Given the description of an element on the screen output the (x, y) to click on. 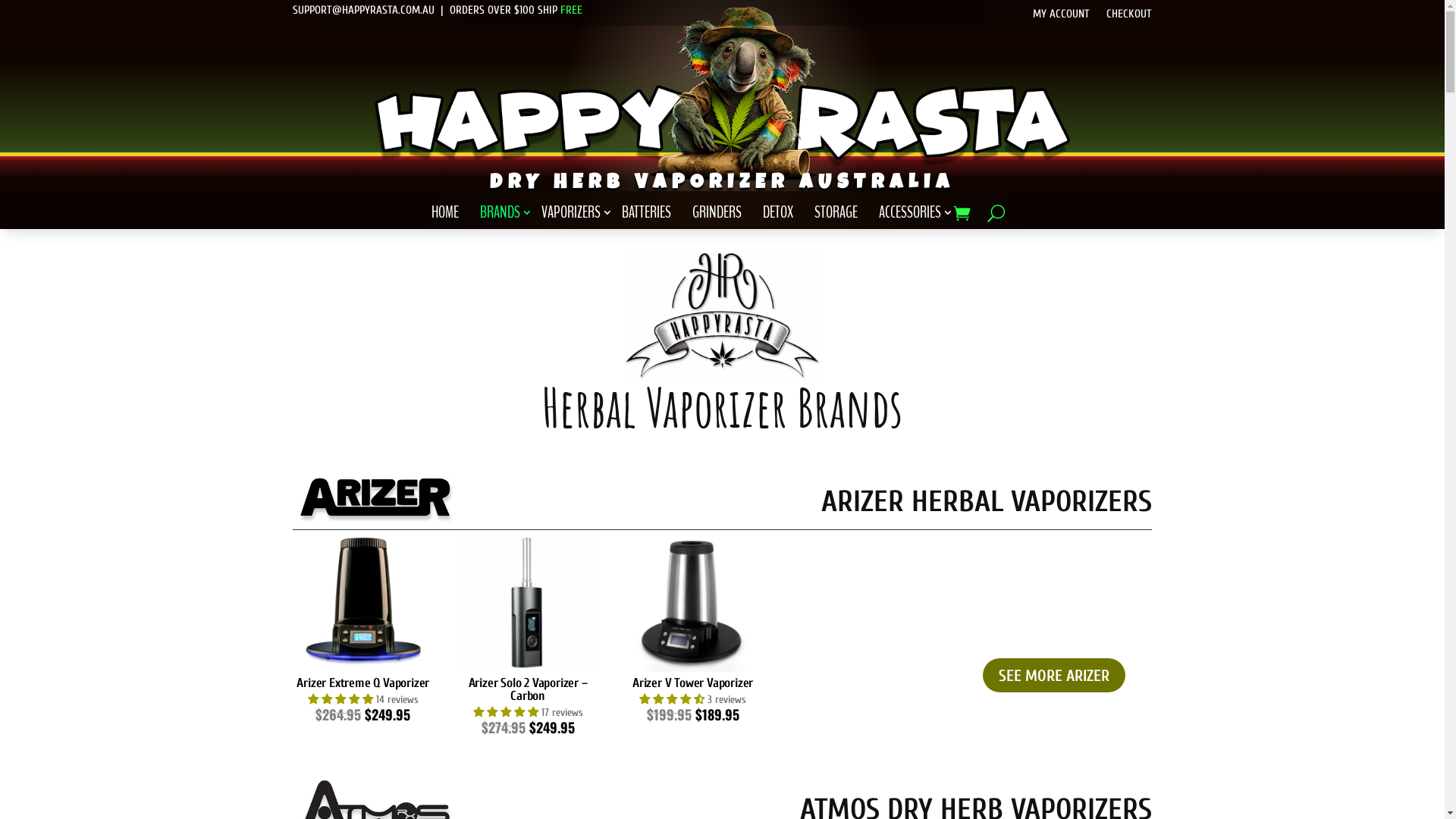
DETOX Element type: text (783, 215)
HOME Element type: text (450, 215)
GRINDERS Element type: text (722, 215)
Arizer V Tower Vaporizer
3 reviews
$199.95 $189.95 Element type: text (692, 626)
BATTERIES Element type: text (652, 215)
MY ACCOUNT Element type: text (1060, 17)
BRANDS Element type: text (506, 215)
STORAGE Element type: text (841, 215)
VAPORIZERS Element type: text (576, 215)
ACCESSORIES Element type: text (915, 215)
SUPPORT@HAPPYRASTA.COM.AU Element type: text (363, 9)
Arizer Extreme Q Vaporizer
14 reviews
$264.95 $249.95 Element type: text (362, 626)
SEE MORE ARIZER Element type: text (1053, 674)
CHECKOUT Element type: text (1128, 17)
AA-Happy-Rasta-Vaporizers-new-logo-2023-300px-height tiny Element type: hover (721, 93)
